Given the description of an element on the screen output the (x, y) to click on. 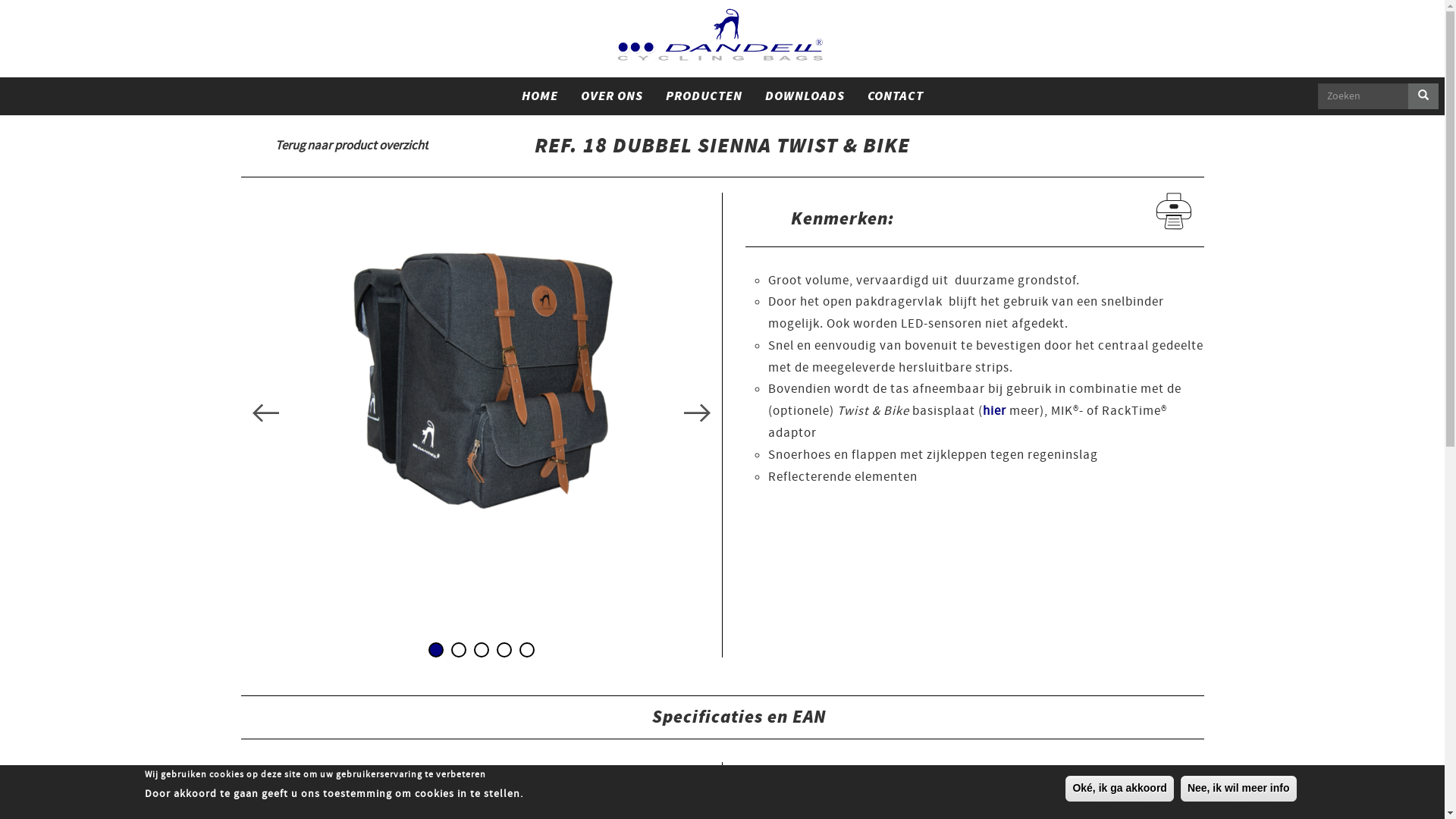
Next Element type: text (697, 413)
1 Element type: text (434, 649)
Geef de woorden op waarnaar u wilt zoeken. Element type: hover (1362, 96)
5 Element type: text (525, 649)
4 Element type: text (503, 649)
HOME Element type: text (538, 96)
Zoeken Element type: text (1327, 114)
hier Element type: text (994, 410)
DOWNLOADS Element type: text (804, 96)
Nee, ik wil meer info Element type: text (1238, 788)
Terug naar product overzicht Element type: text (334, 145)
Previous Element type: text (264, 413)
2 Element type: text (457, 649)
3 Element type: text (480, 649)
PRODUCTEN Element type: text (703, 96)
CONTACT Element type: text (894, 96)
OVER ONS Element type: text (610, 96)
